Given the description of an element on the screen output the (x, y) to click on. 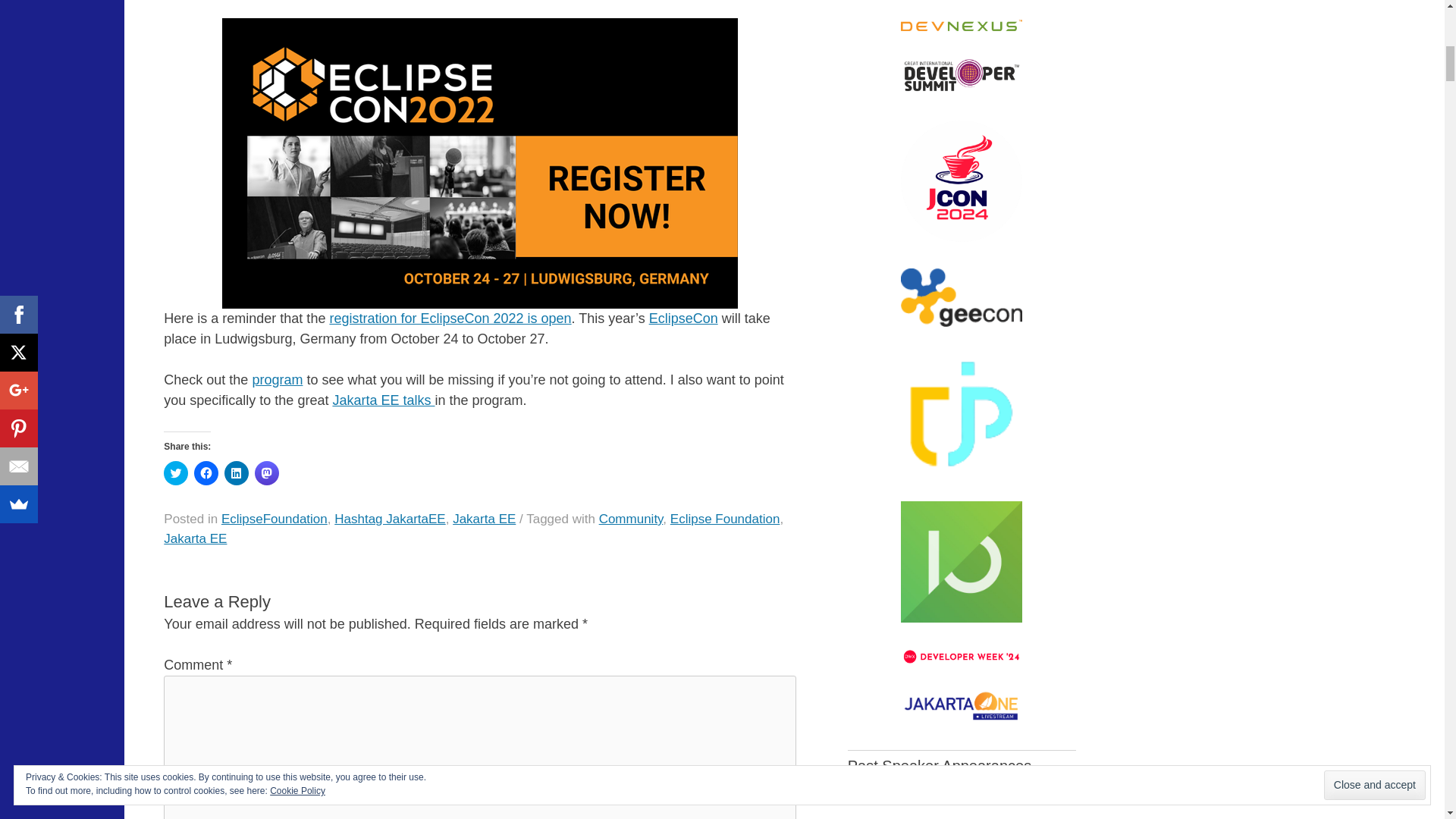
EclipseFoundation (274, 518)
Click to share on Facebook (205, 473)
Jakarta EE talks  (382, 400)
Hashtag JakartaEE (389, 518)
Click to share on Mastodon (266, 473)
program (276, 379)
Community (630, 518)
registration for EclipseCon 2022 is open (449, 318)
Jakarta EE (195, 537)
Click to share on LinkedIn (236, 473)
EclipseCon (683, 318)
Jakarta EE (483, 518)
Click to share on Twitter (175, 473)
Eclipse Foundation (724, 518)
